Given the description of an element on the screen output the (x, y) to click on. 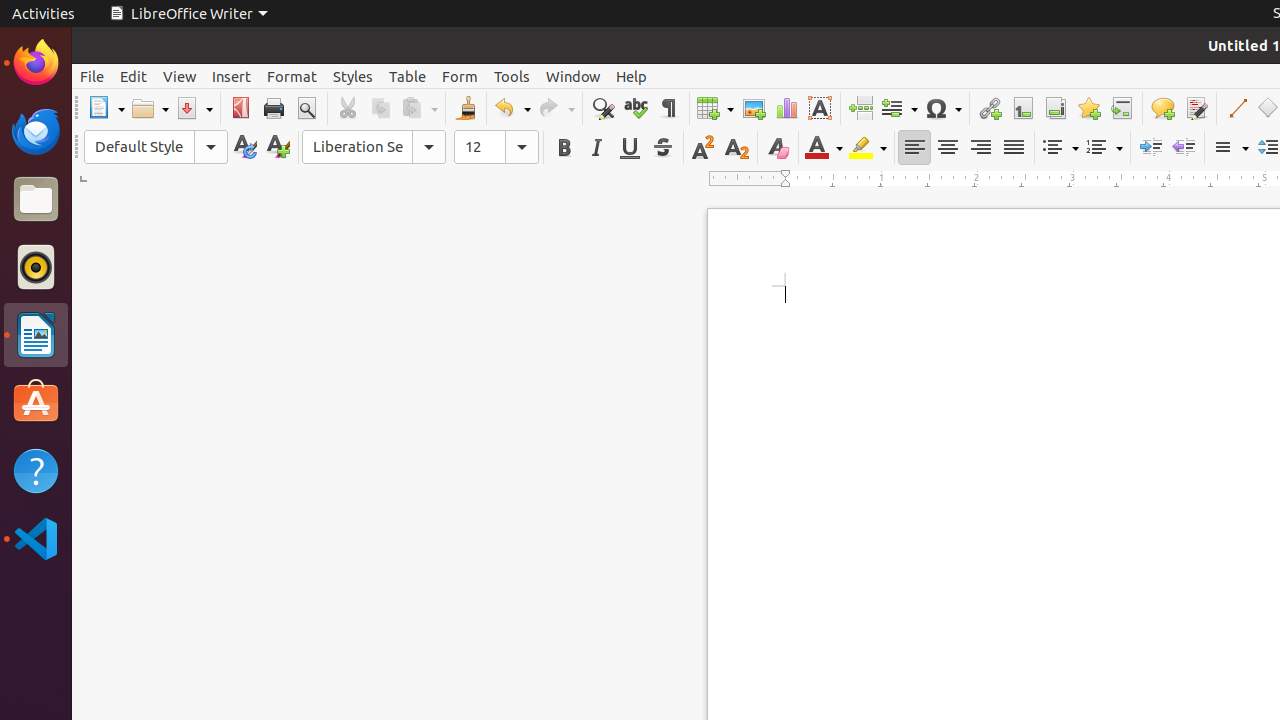
Table Element type: push-button (715, 108)
Table Element type: menu (407, 76)
Redo Element type: push-button (556, 108)
Trash Element type: label (133, 191)
Track Changes Functions Element type: toggle-button (1195, 108)
